Given the description of an element on the screen output the (x, y) to click on. 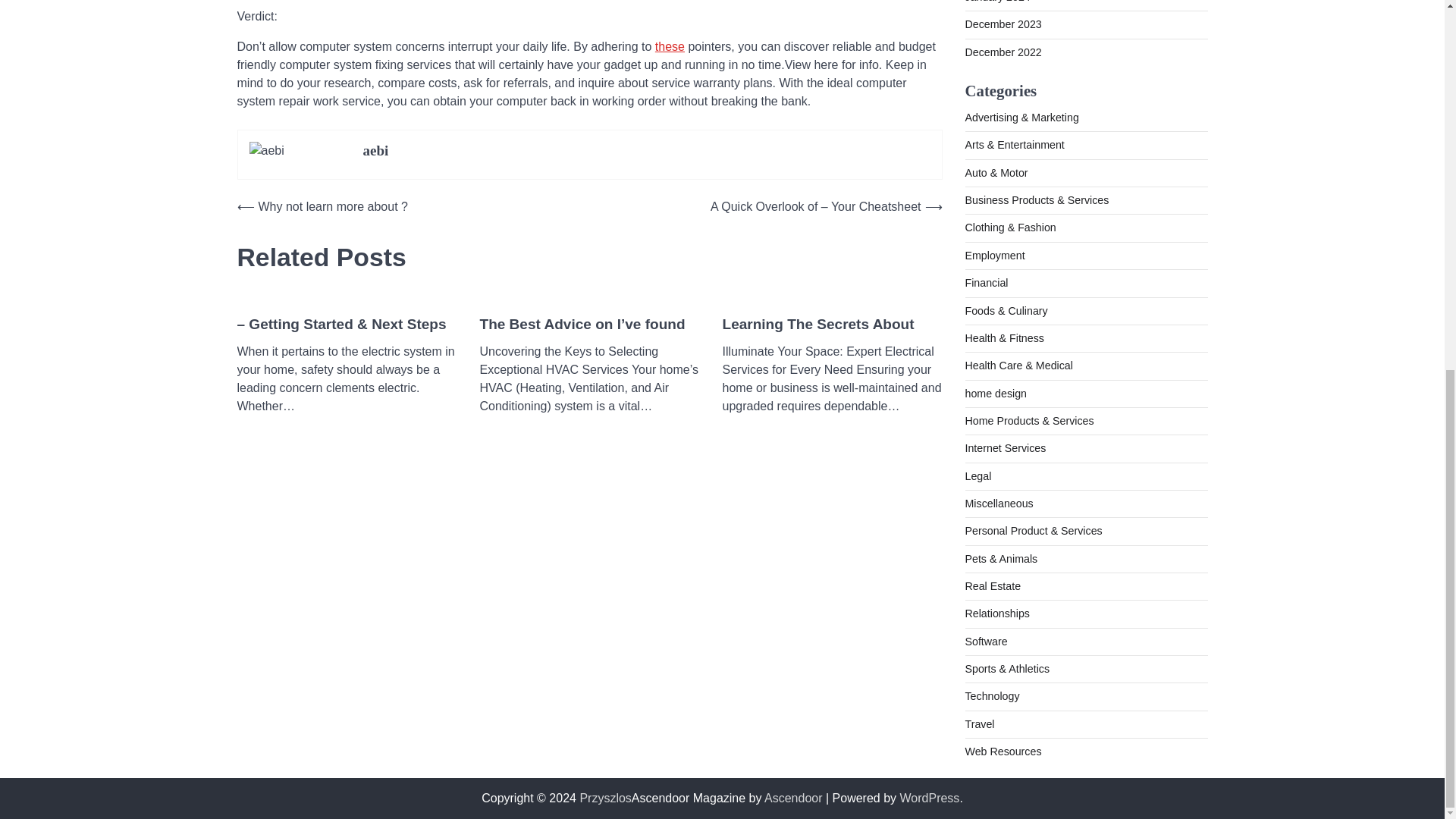
Employment (994, 255)
these (669, 46)
December 2022 (1002, 51)
January 2024 (996, 1)
Learning The Secrets About (818, 324)
December 2023 (1002, 24)
Financial (985, 282)
